Given the description of an element on the screen output the (x, y) to click on. 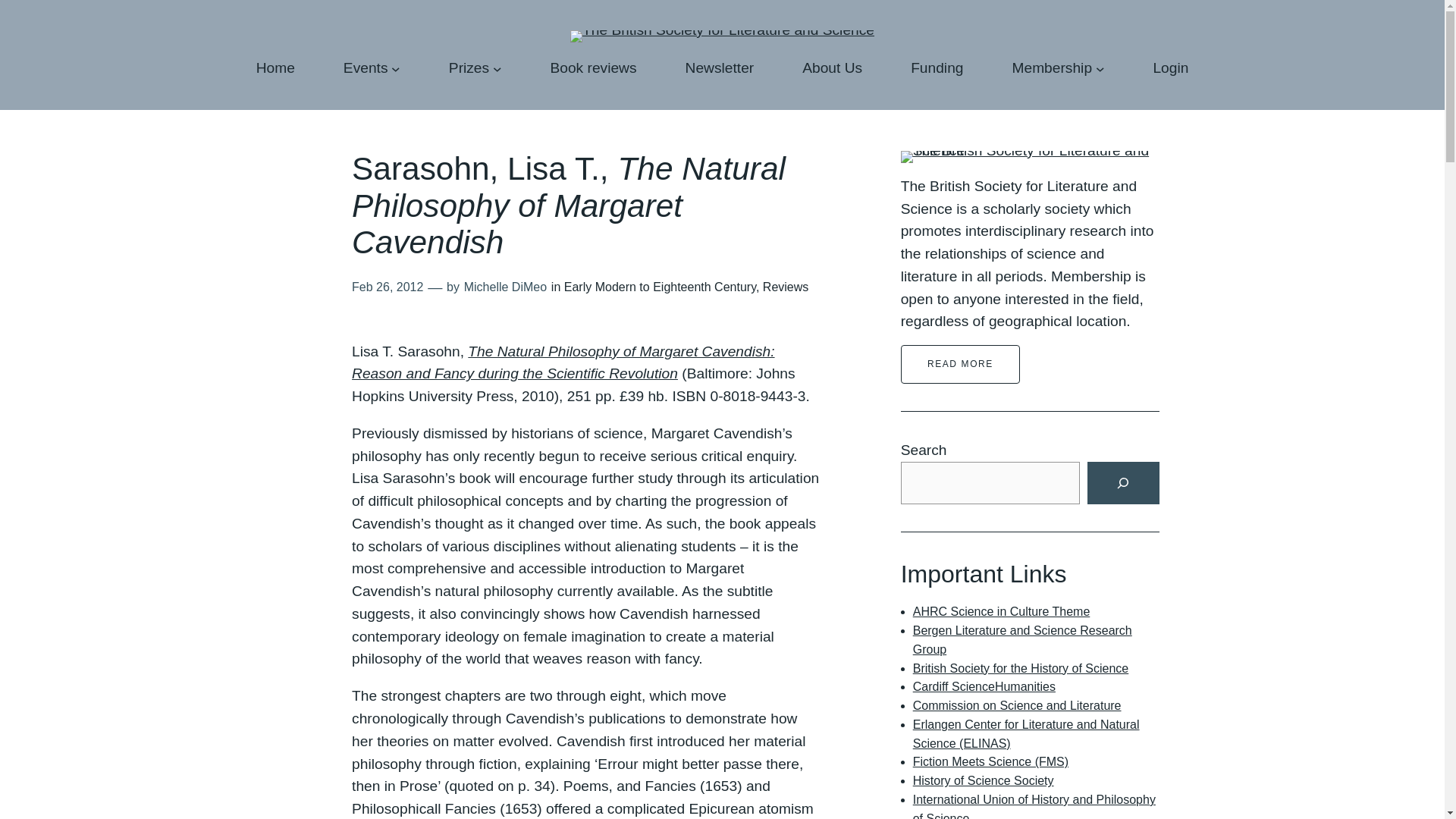
READ MORE (960, 364)
Prizes (468, 67)
Events (365, 67)
Membership (1051, 67)
Newsletter (719, 67)
Bergen Literature and Science Research Group (1022, 640)
AHRC Science in Culture Theme (1001, 611)
British Society for the History of Science (1020, 667)
Commission on Science and Literature (1016, 705)
